Given the description of an element on the screen output the (x, y) to click on. 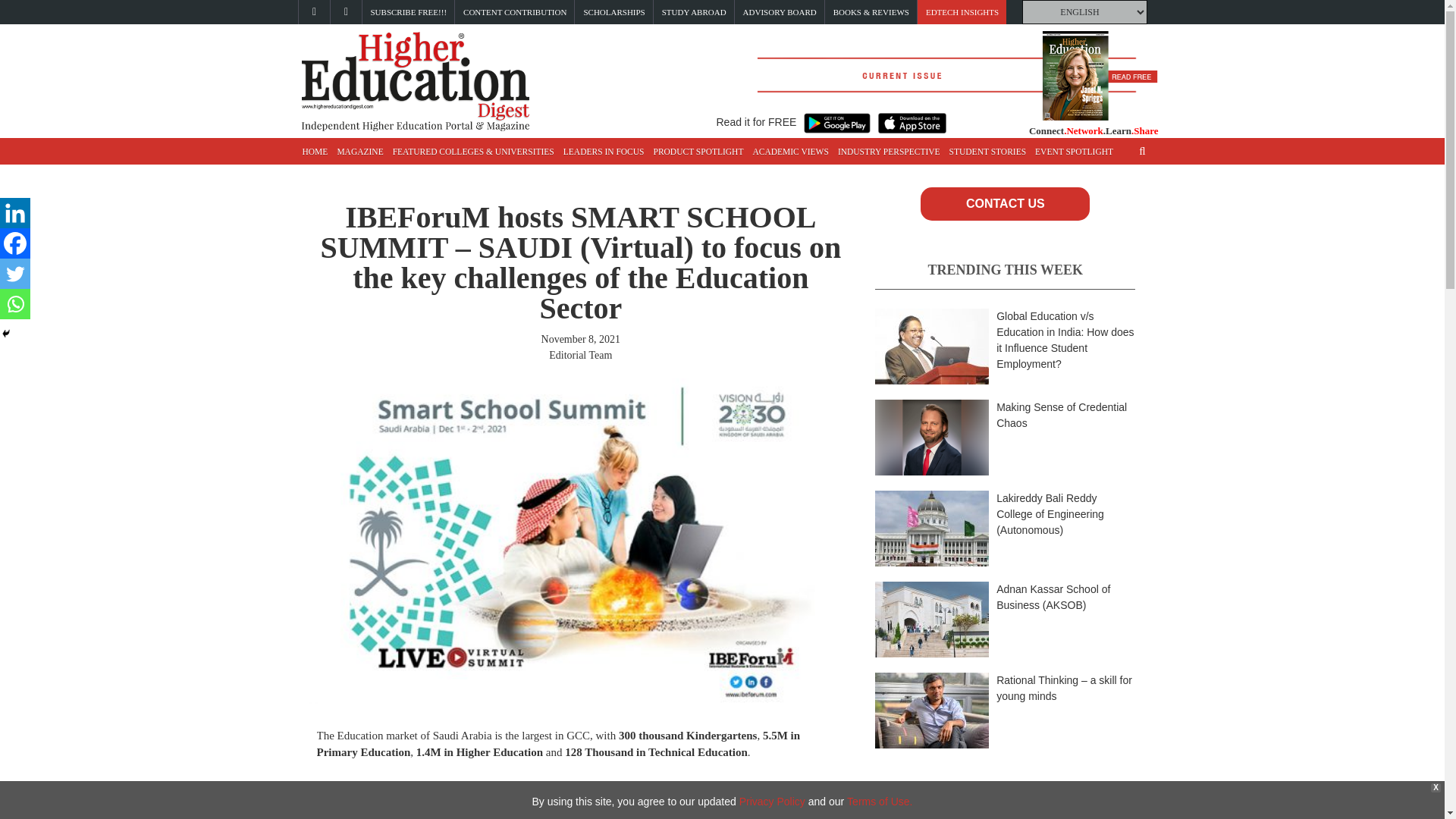
CONTENT CONTRIBUTION (514, 12)
LEADERS IN FOCUS (604, 151)
Whatsapp (15, 304)
SUBSCRIBE FREE!!! (407, 12)
Hide (5, 333)
PRODUCT SPOTLIGHT (698, 151)
STUDENT STORIES (987, 151)
Twitter (15, 273)
STUDY ABROAD (694, 12)
HOME (314, 151)
Facebook (15, 243)
EDTECH INSIGHTS (962, 12)
MAGAZINE (359, 151)
ACADEMIC VIEWS (790, 151)
SCHOLARSHIPS (614, 12)
